Given the description of an element on the screen output the (x, y) to click on. 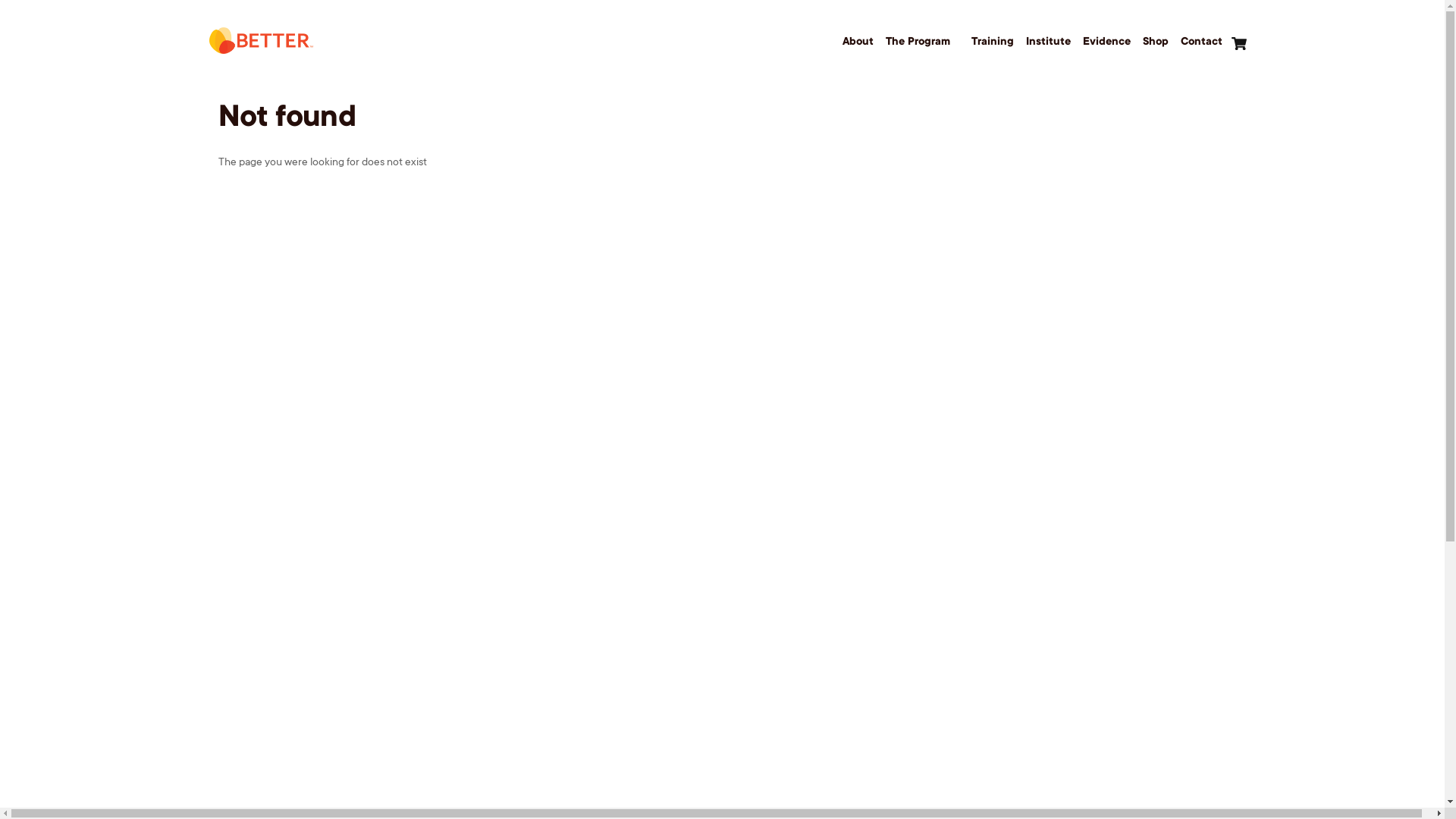
Training Element type: text (992, 42)
Shop Element type: text (1155, 42)
About Element type: text (857, 42)
Evidence Element type: text (1106, 42)
Institute Element type: text (1048, 42)
Contact Element type: text (1201, 42)
